Given the description of an element on the screen output the (x, y) to click on. 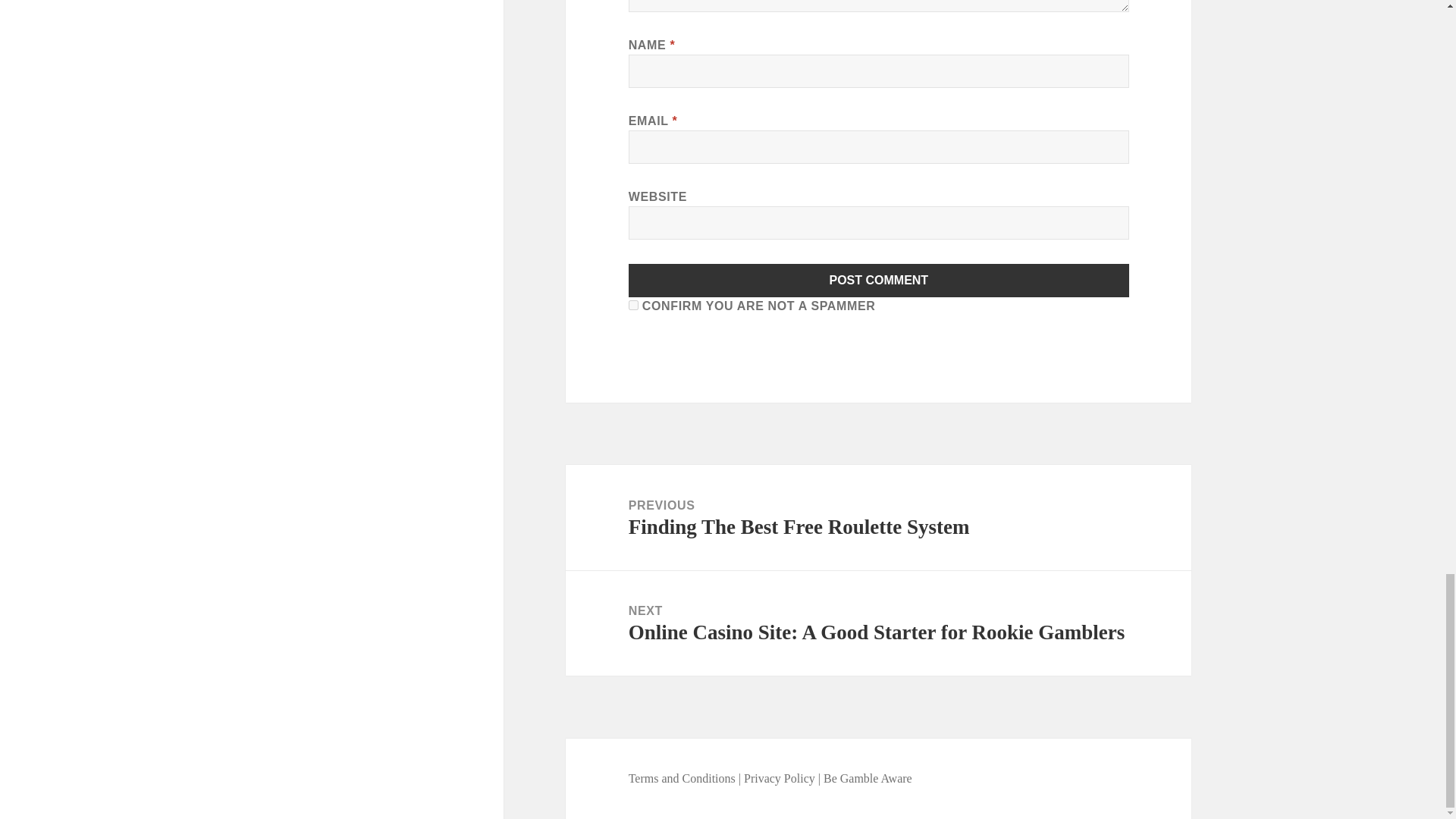
Terms and Conditions (683, 778)
Post Comment (878, 280)
Be Gamble Aware (868, 778)
Post Comment (878, 280)
Privacy Policy (779, 778)
on (633, 305)
